Given the description of an element on the screen output the (x, y) to click on. 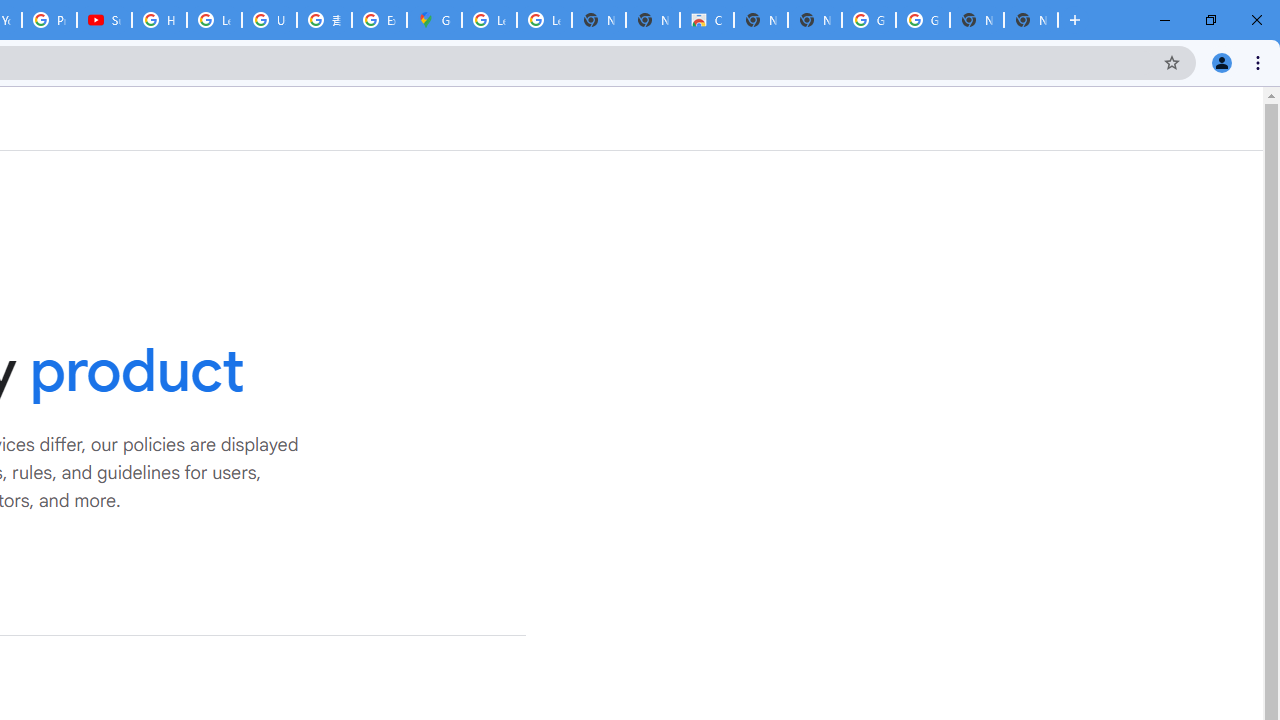
Subscriptions - YouTube (103, 20)
Explore new street-level details - Google Maps Help (379, 20)
